Given the description of an element on the screen output the (x, y) to click on. 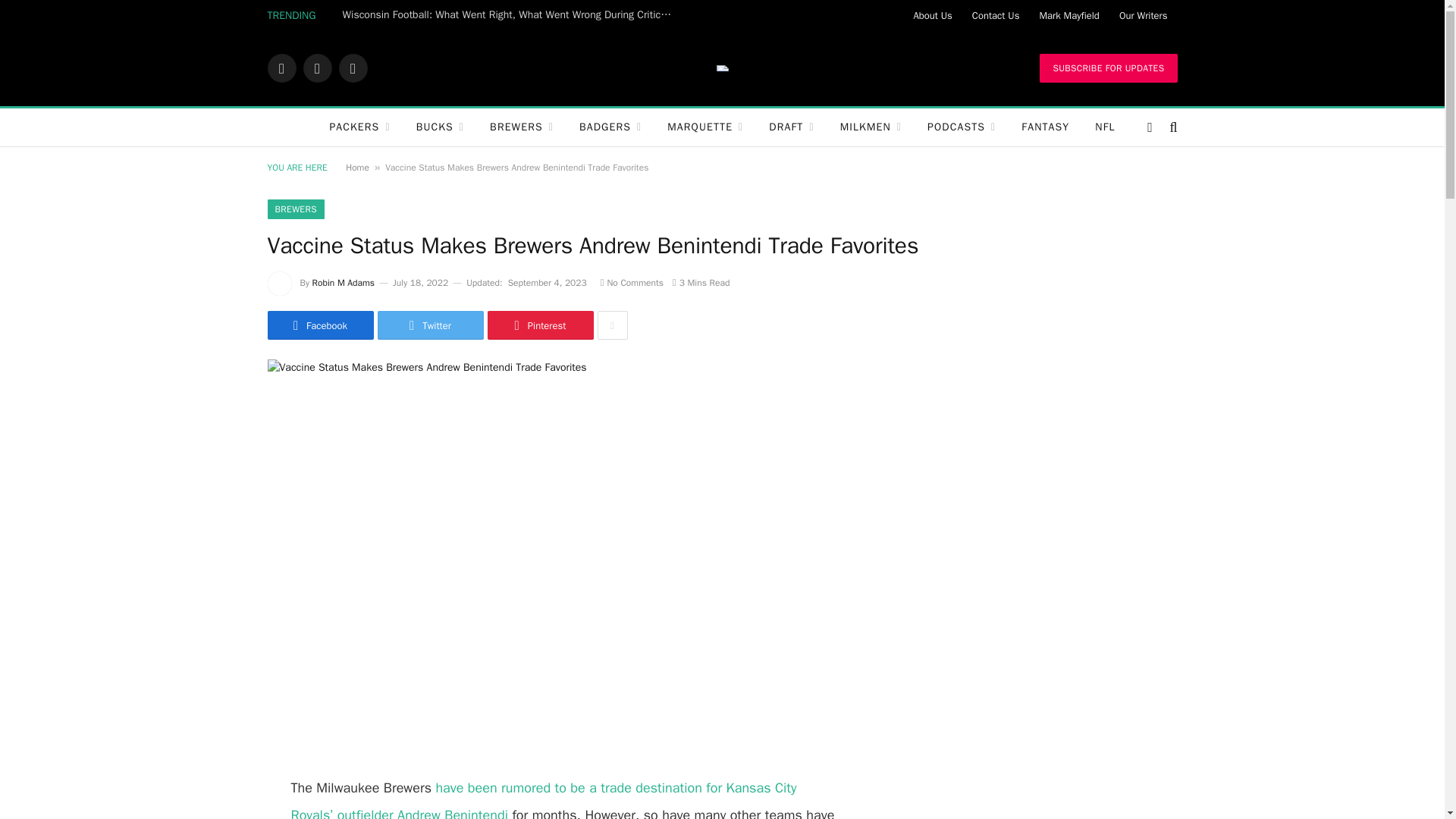
SUBSCRIBE FOR UPDATES (1107, 68)
Switch to Dark Design - easier on eyes. (1149, 127)
PACKERS (359, 127)
BUCKS (440, 127)
Our Writers (1143, 15)
Mark Mayfield (1068, 15)
Contact Us (995, 15)
About Us (931, 15)
RSS (351, 68)
Posts by Robin M Adams (343, 282)
